Given the description of an element on the screen output the (x, y) to click on. 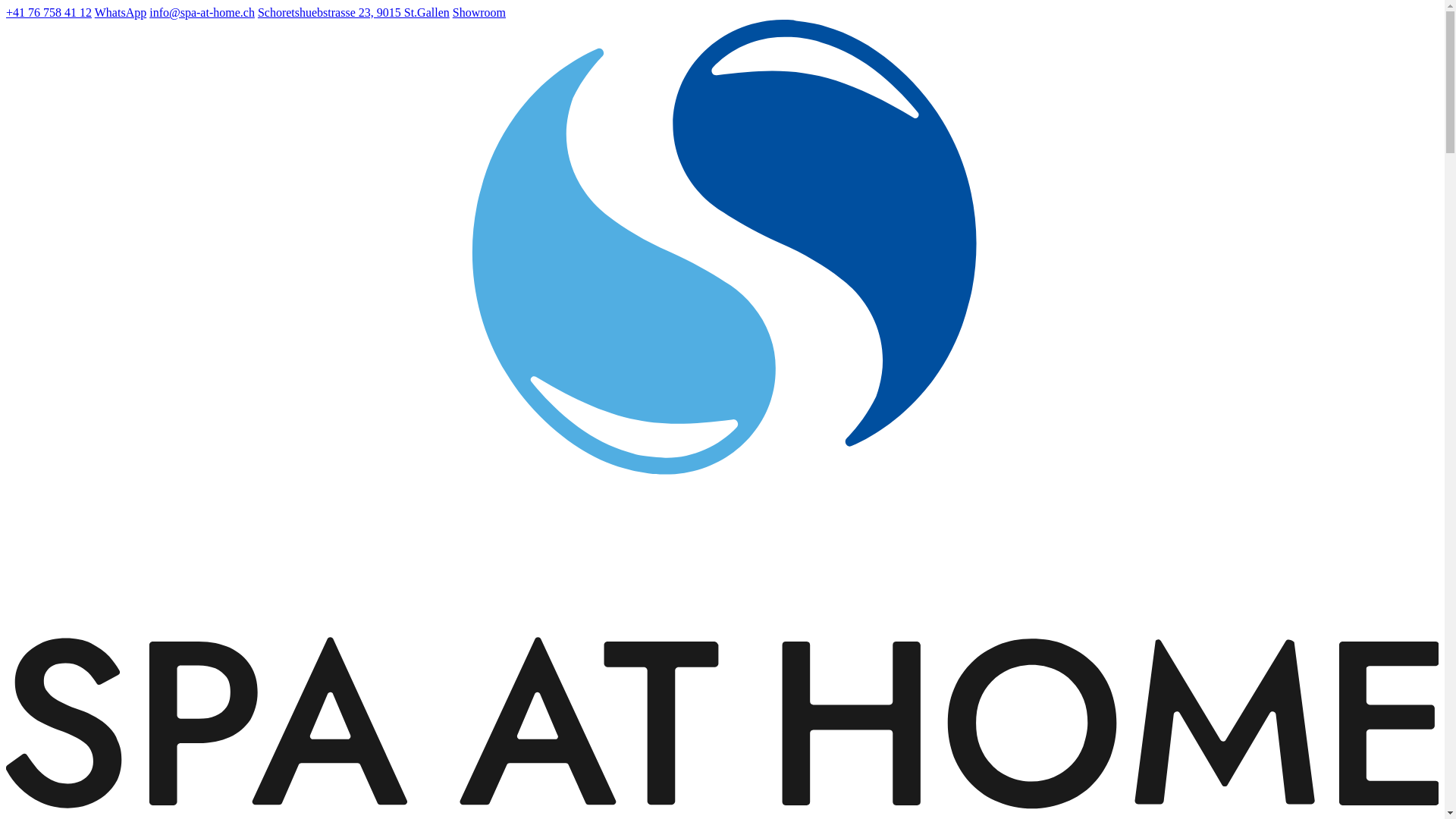
Showroom Element type: text (478, 12)
+41 76 758 41 12 Element type: text (48, 12)
info@spa-at-home.ch Element type: text (201, 12)
WhatsApp Element type: text (120, 12)
Schoretshuebstrasse 23, 9015 St.Gallen Element type: text (353, 12)
